Given the description of an element on the screen output the (x, y) to click on. 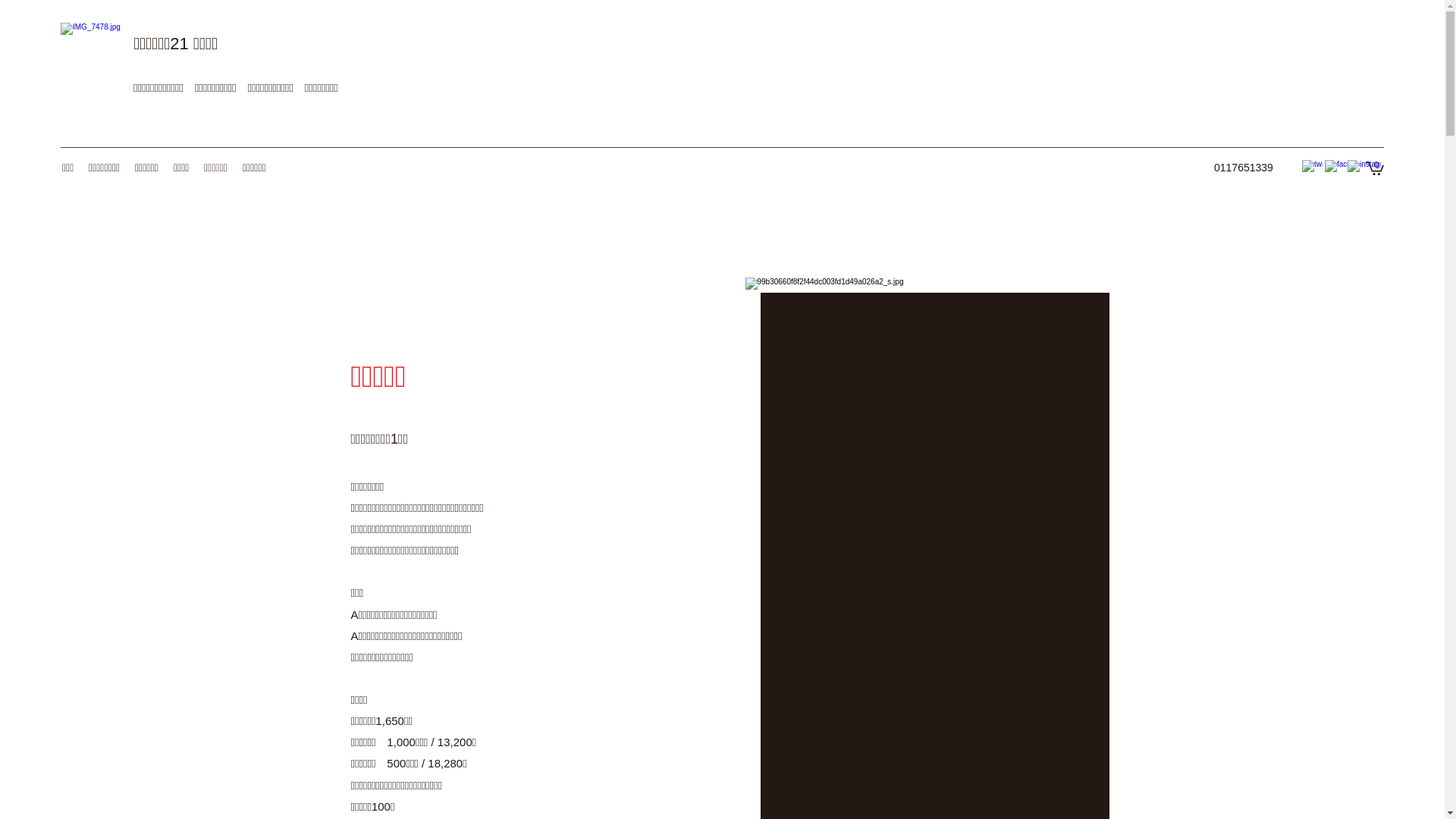
0 Element type: text (1374, 167)
